Given the description of an element on the screen output the (x, y) to click on. 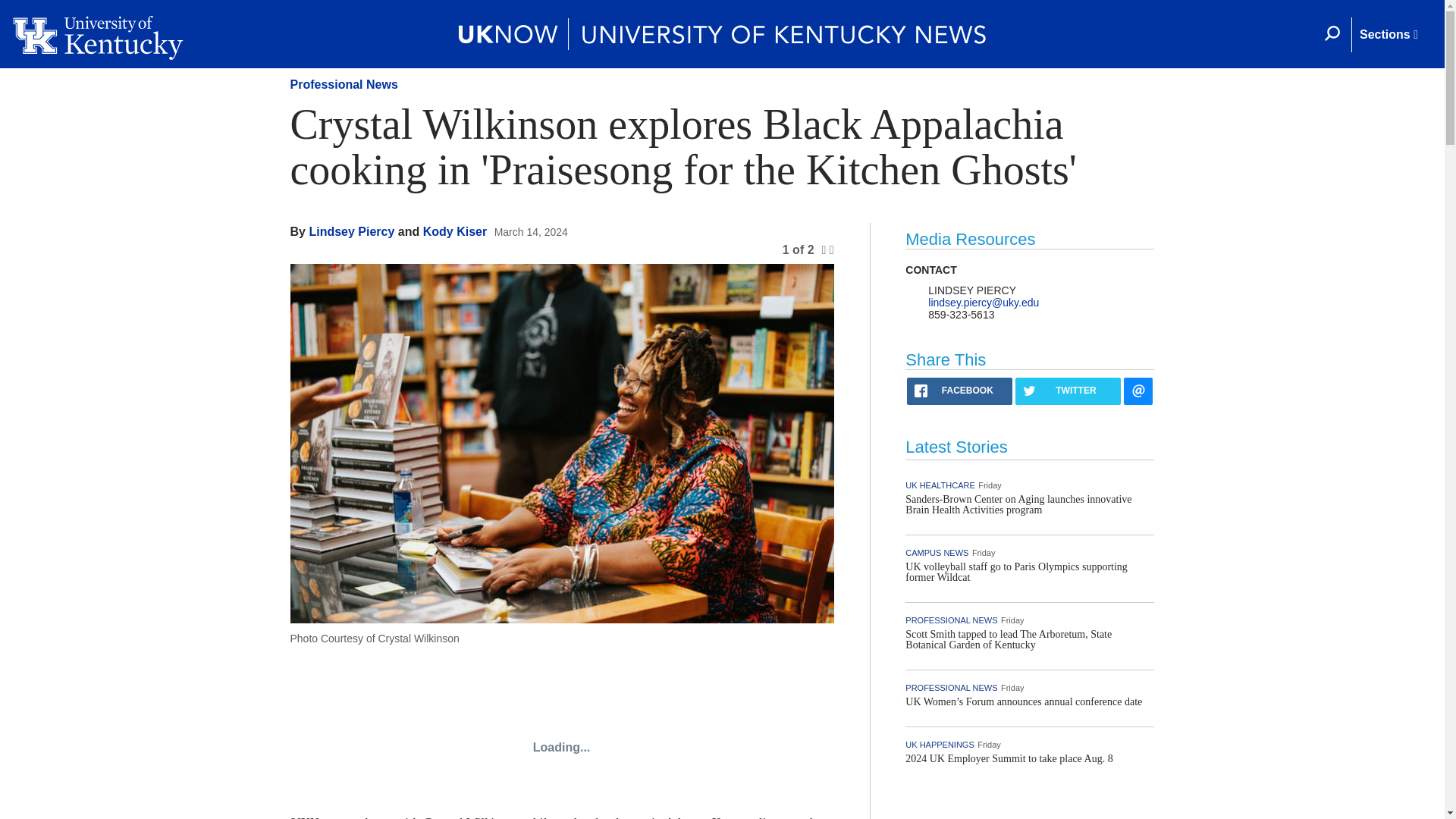
Lindsey Piercy (351, 231)
Sections (1388, 34)
TWITTER (1067, 390)
FACEBOOK (959, 390)
Kody Kiser (454, 231)
Section navigation menu (1388, 34)
Embed Player (561, 747)
Professional News (343, 83)
